Given the description of an element on the screen output the (x, y) to click on. 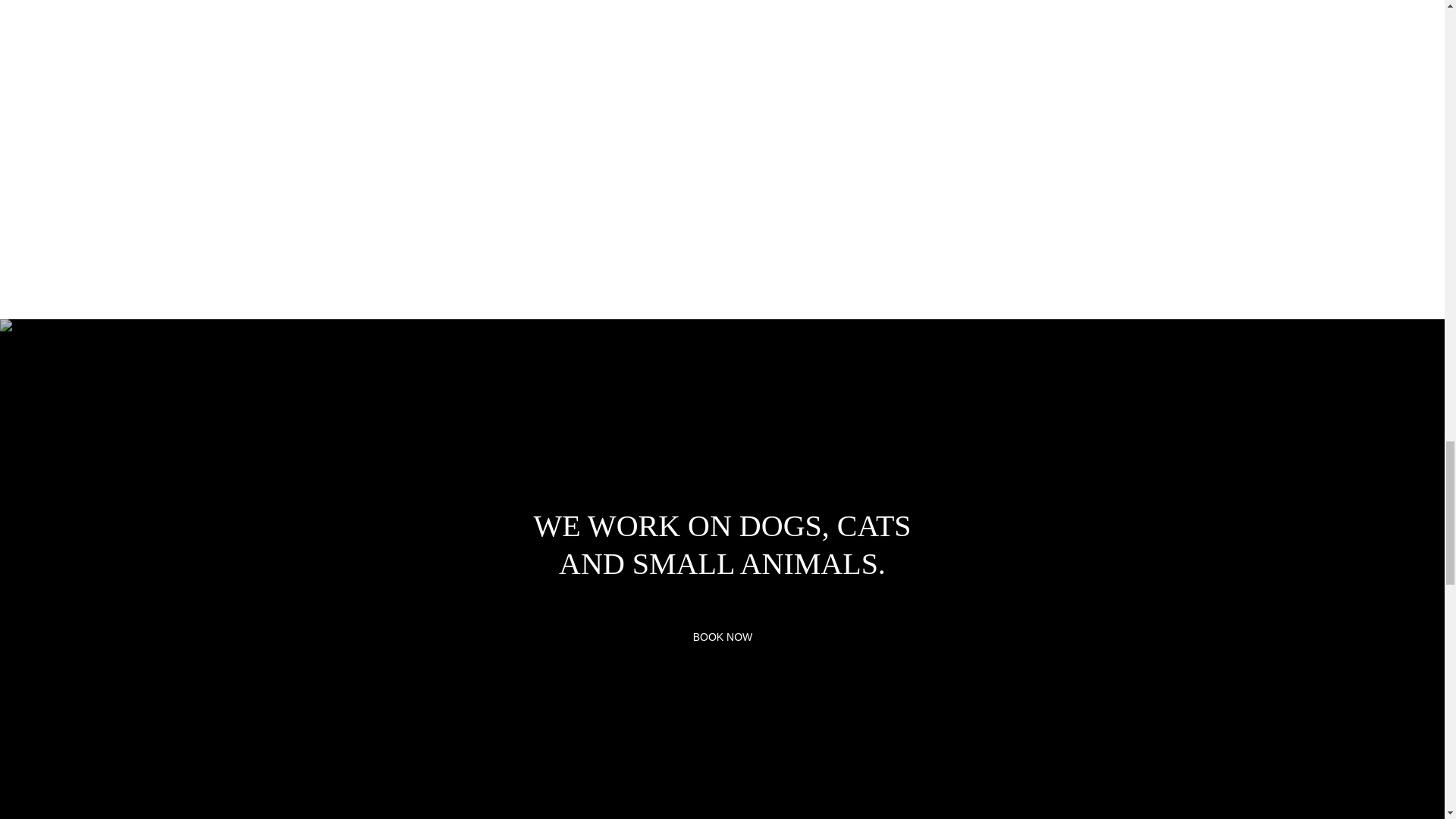
BOOK NOW (723, 636)
